Given the description of an element on the screen output the (x, y) to click on. 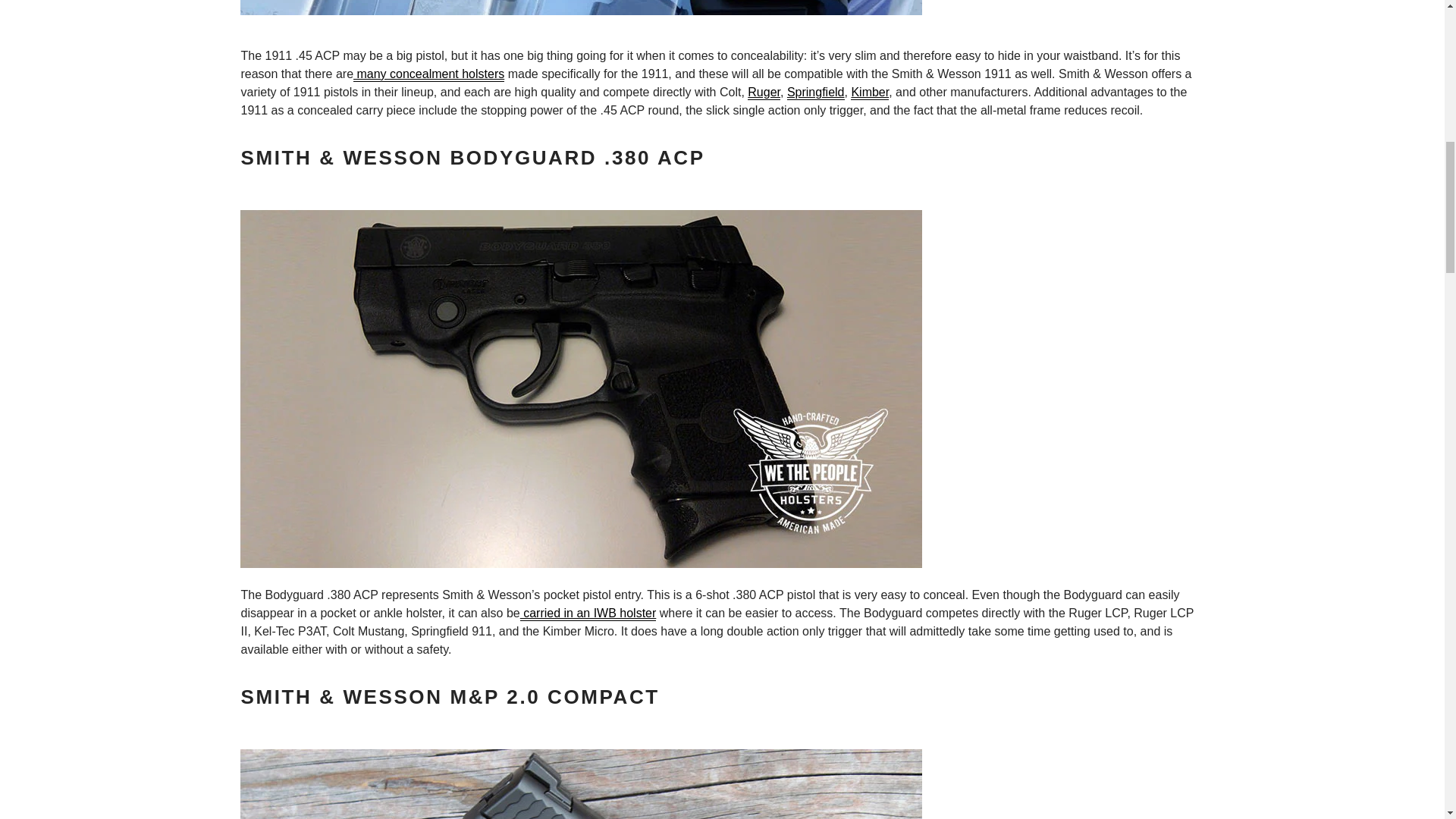
Springfield (815, 92)
Ruger Firearms (764, 92)
Kimber Firearms (869, 92)
